Given the description of an element on the screen output the (x, y) to click on. 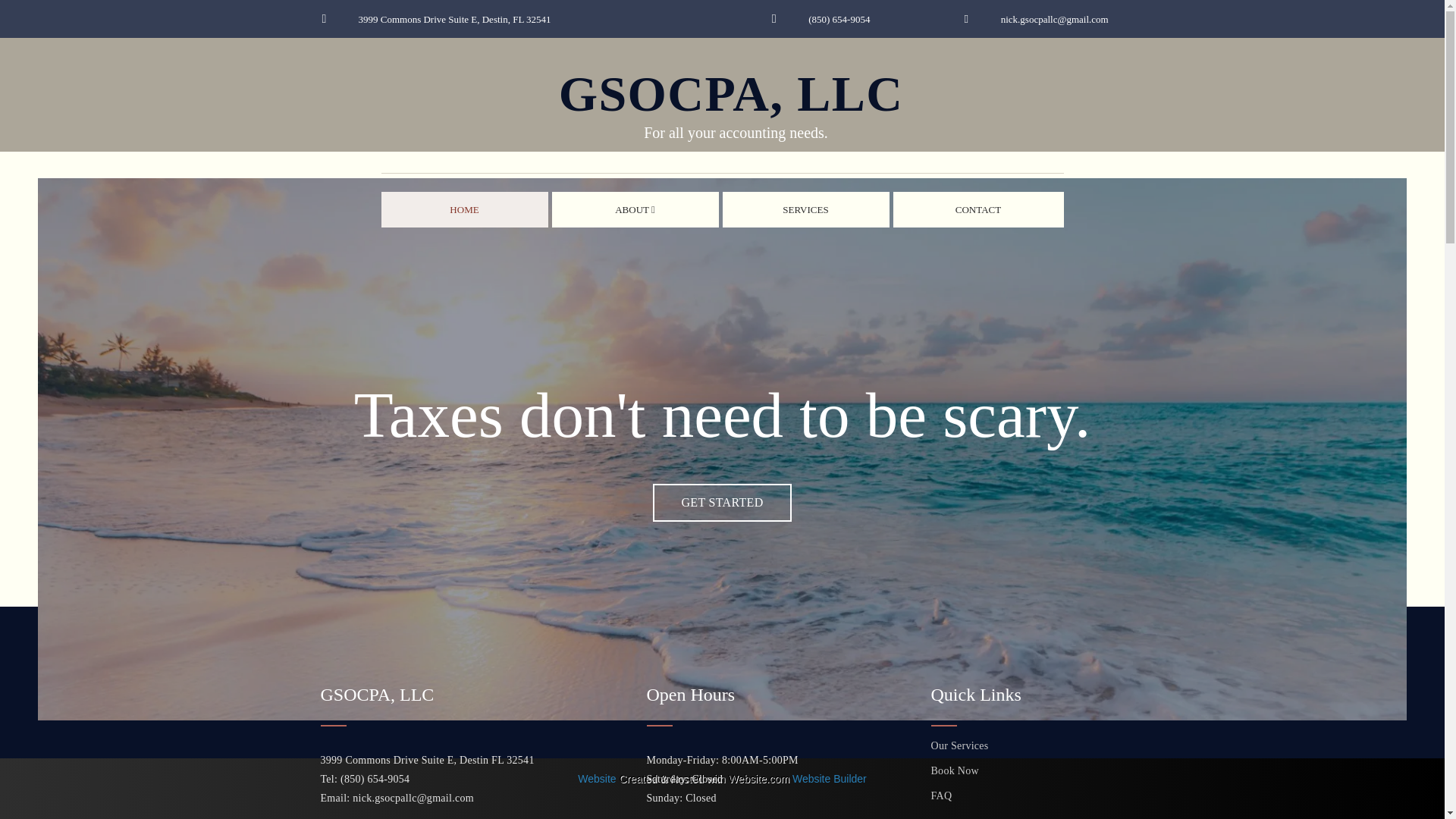
Website Builder (829, 778)
Website (596, 778)
FAQ (978, 209)
ABOUT (1027, 795)
HOME (635, 209)
Book Now (463, 209)
Our Services (1027, 770)
SERVICES (1027, 745)
